Given the description of an element on the screen output the (x, y) to click on. 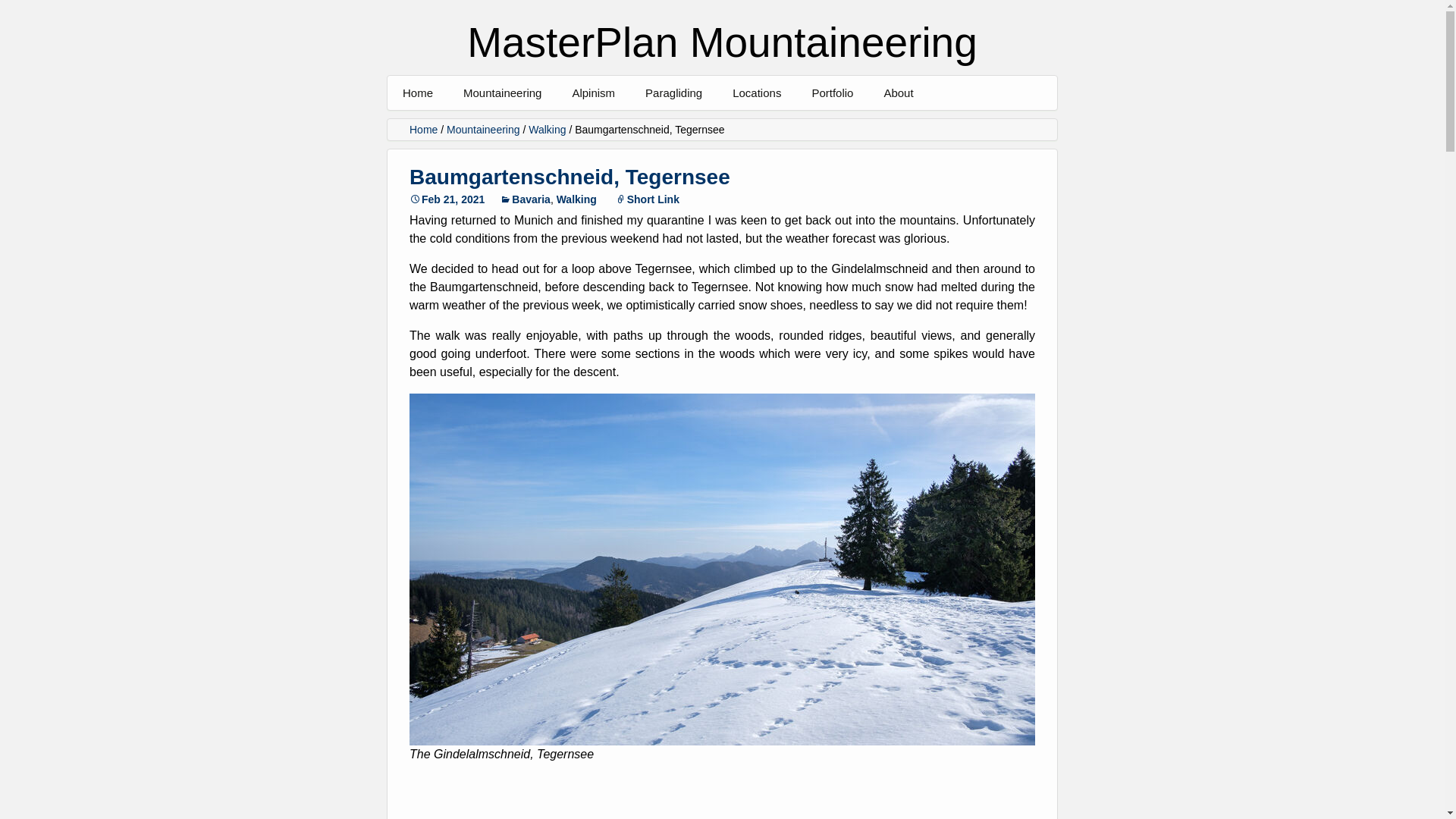
About (897, 92)
Locations (756, 92)
All (539, 126)
Home (417, 92)
Alpinism (593, 92)
Climbing-Alpine (887, 126)
Permalink to Baumgartenschneid, Tegernsee (446, 199)
Paragliding (673, 92)
Portfolio (831, 92)
Blog (647, 126)
Mountaineering (502, 92)
About (958, 126)
North Wales (808, 126)
